Given the description of an element on the screen output the (x, y) to click on. 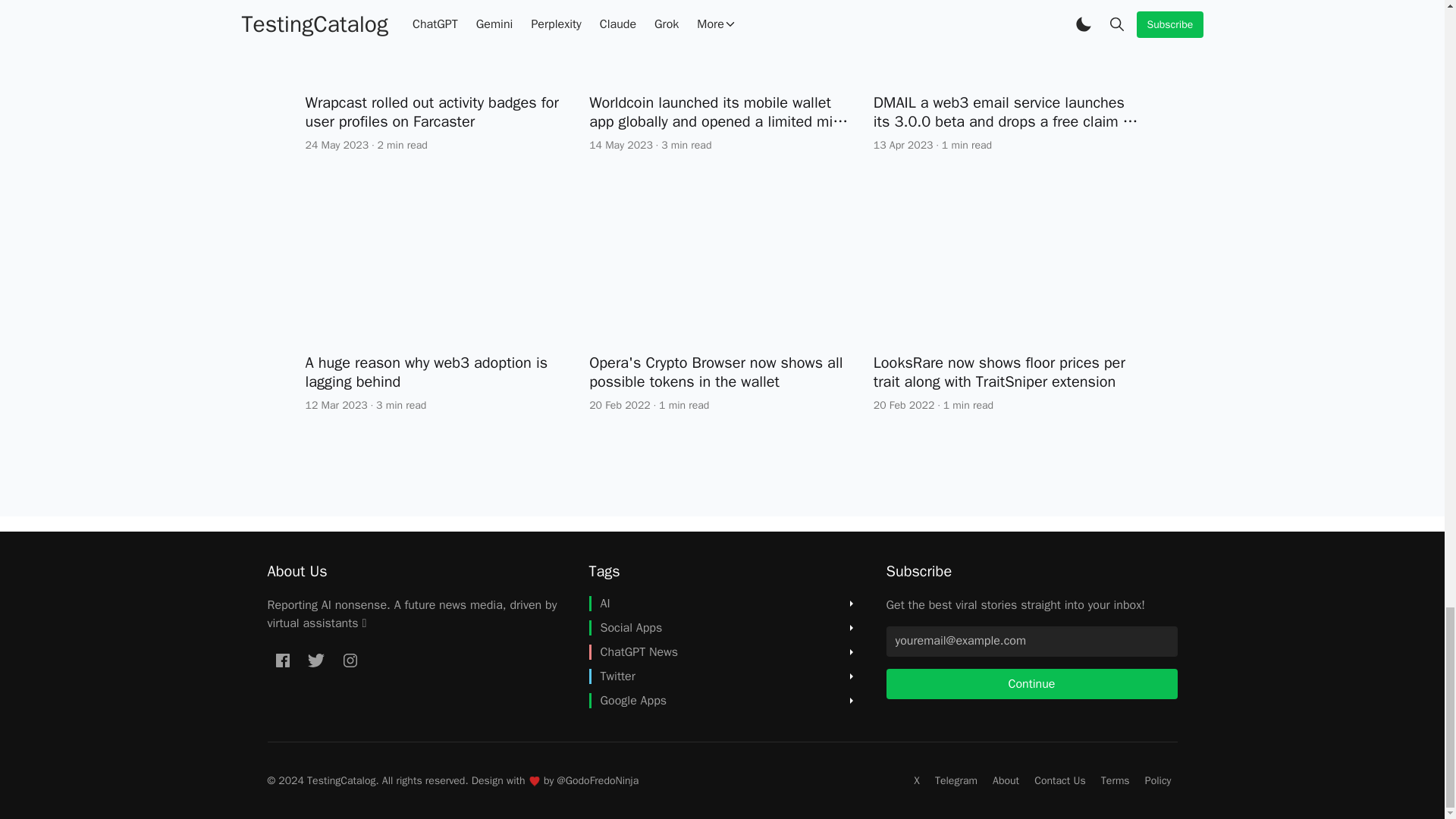
Updated 24 Feb 2024 (336, 145)
